Given the description of an element on the screen output the (x, y) to click on. 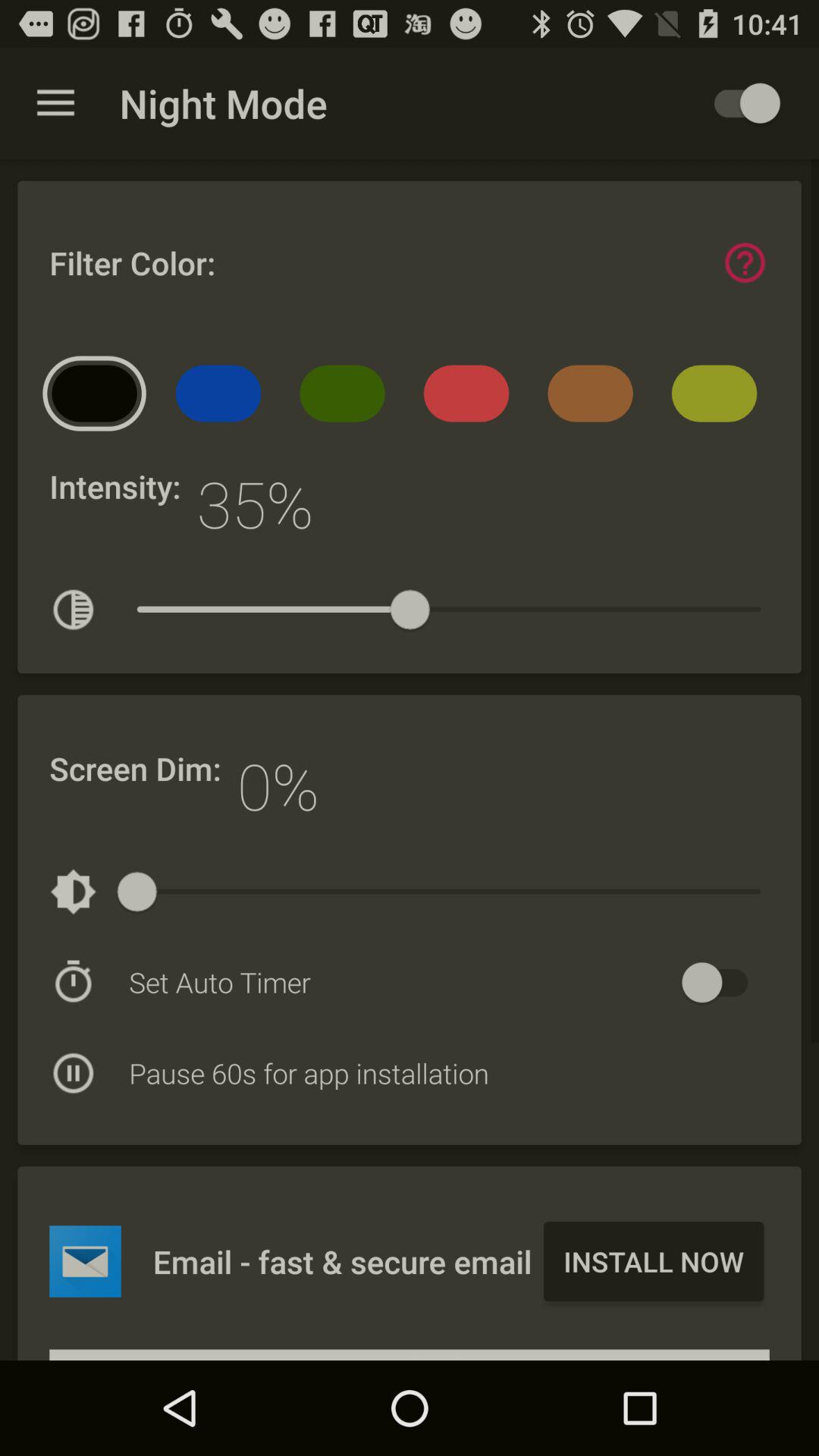
open email app (85, 1261)
